Given the description of an element on the screen output the (x, y) to click on. 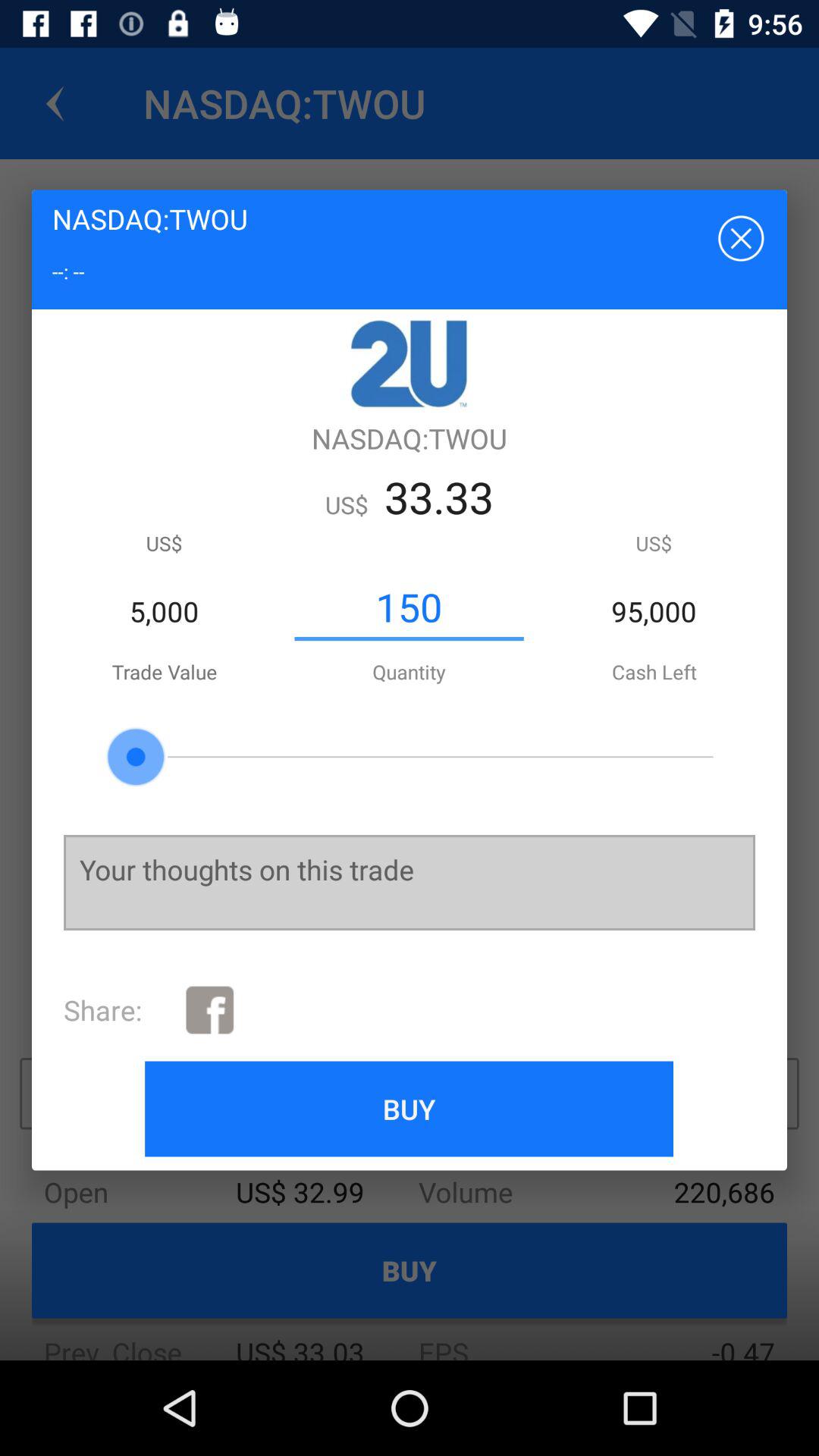
press item at the top right corner (739, 237)
